Given the description of an element on the screen output the (x, y) to click on. 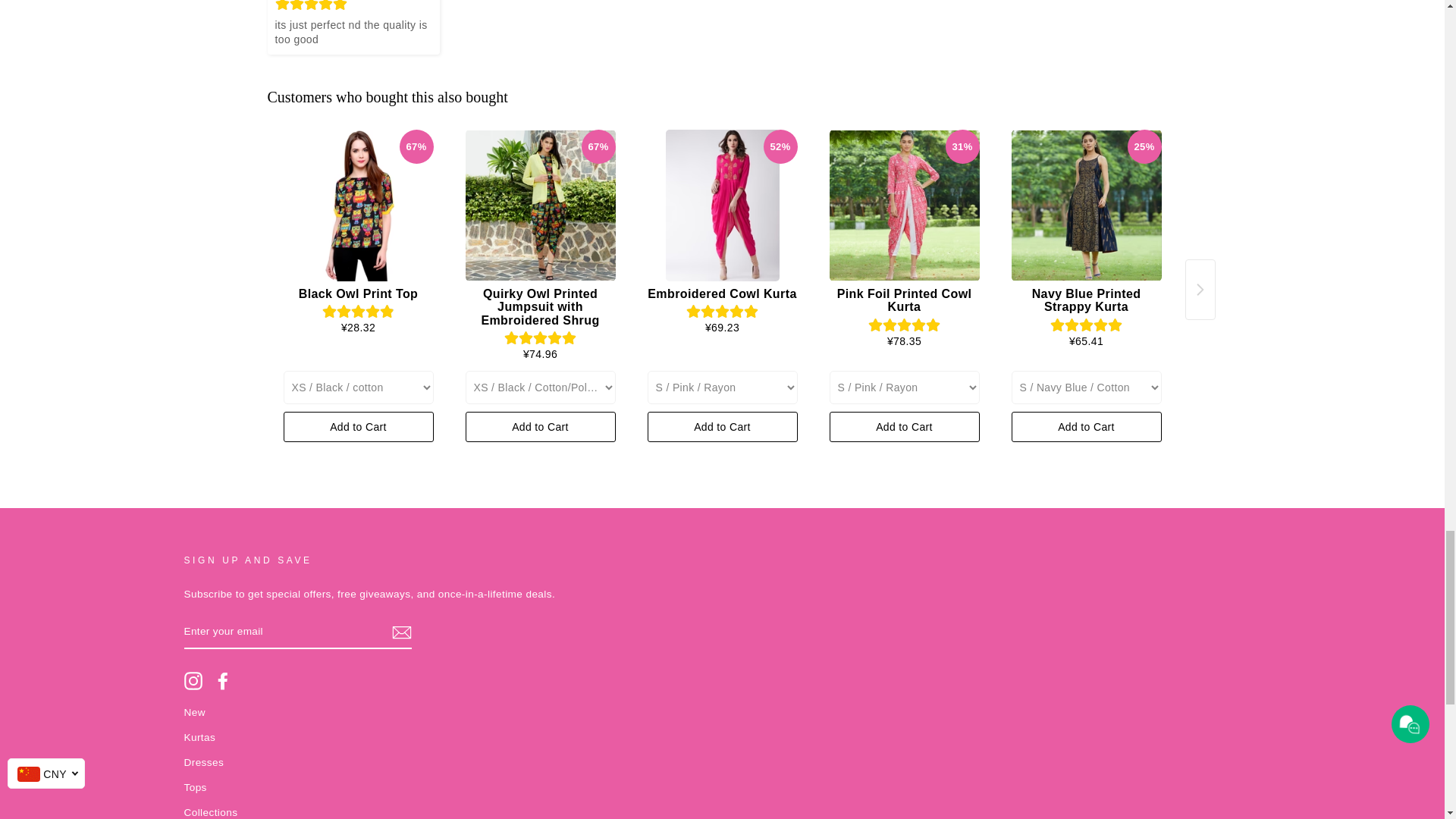
Embroidered Cowl Kurta (722, 205)
Navy Blue Printed Strappy Kurta (1086, 205)
Pannkh on Instagram (192, 680)
Pink Foil Printed Cowl Kurta (904, 205)
Black Owl Print Top (358, 205)
Quirky Owl Printed Jumpsuit with Embroidered Shrug (540, 205)
Pannkh on Facebook (222, 680)
